Given the description of an element on the screen output the (x, y) to click on. 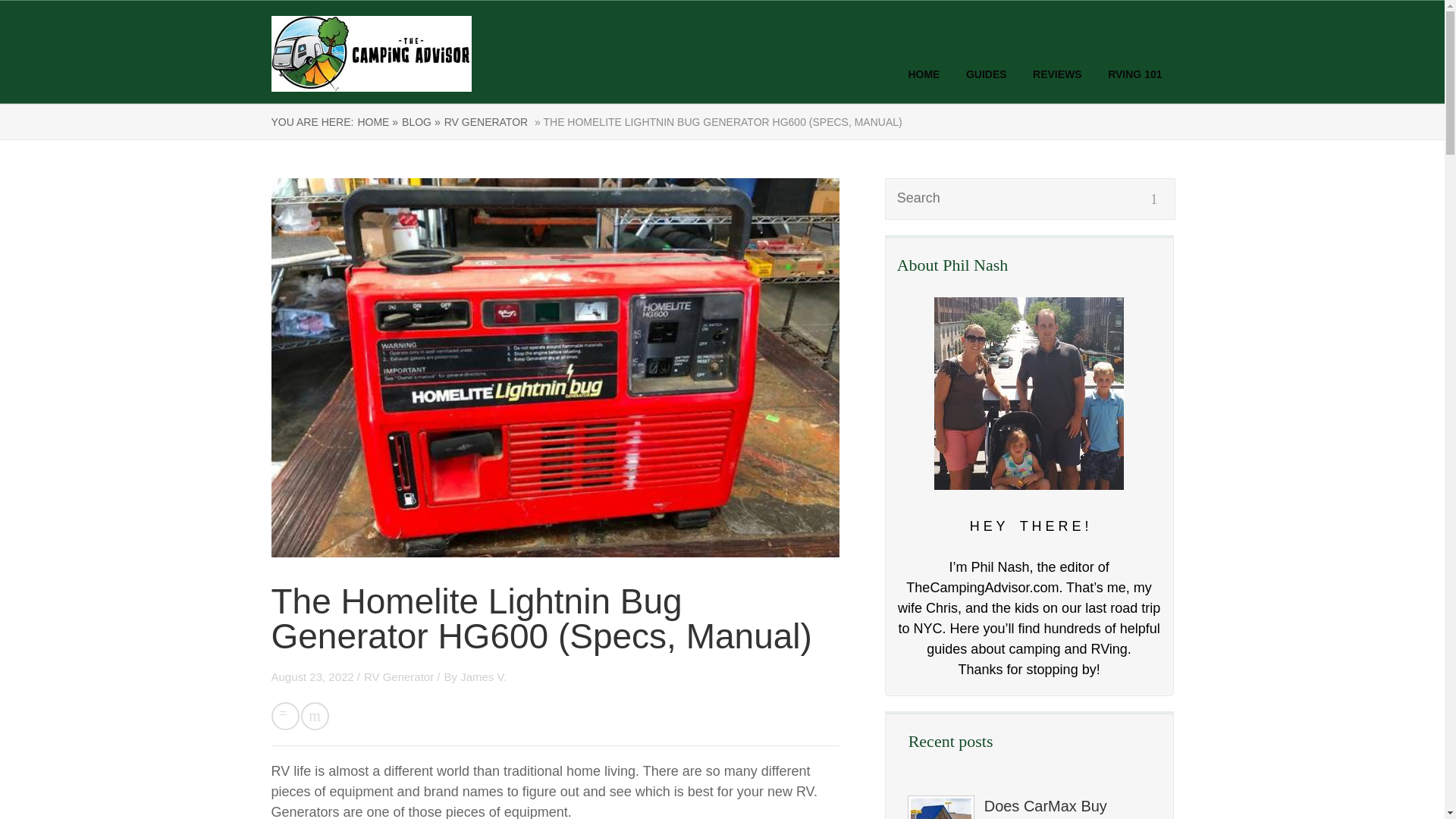
REVIEWS (1056, 73)
GUIDES (986, 73)
RV GENERATOR (485, 121)
RVING 101 (1134, 73)
HOME (923, 73)
